Given the description of an element on the screen output the (x, y) to click on. 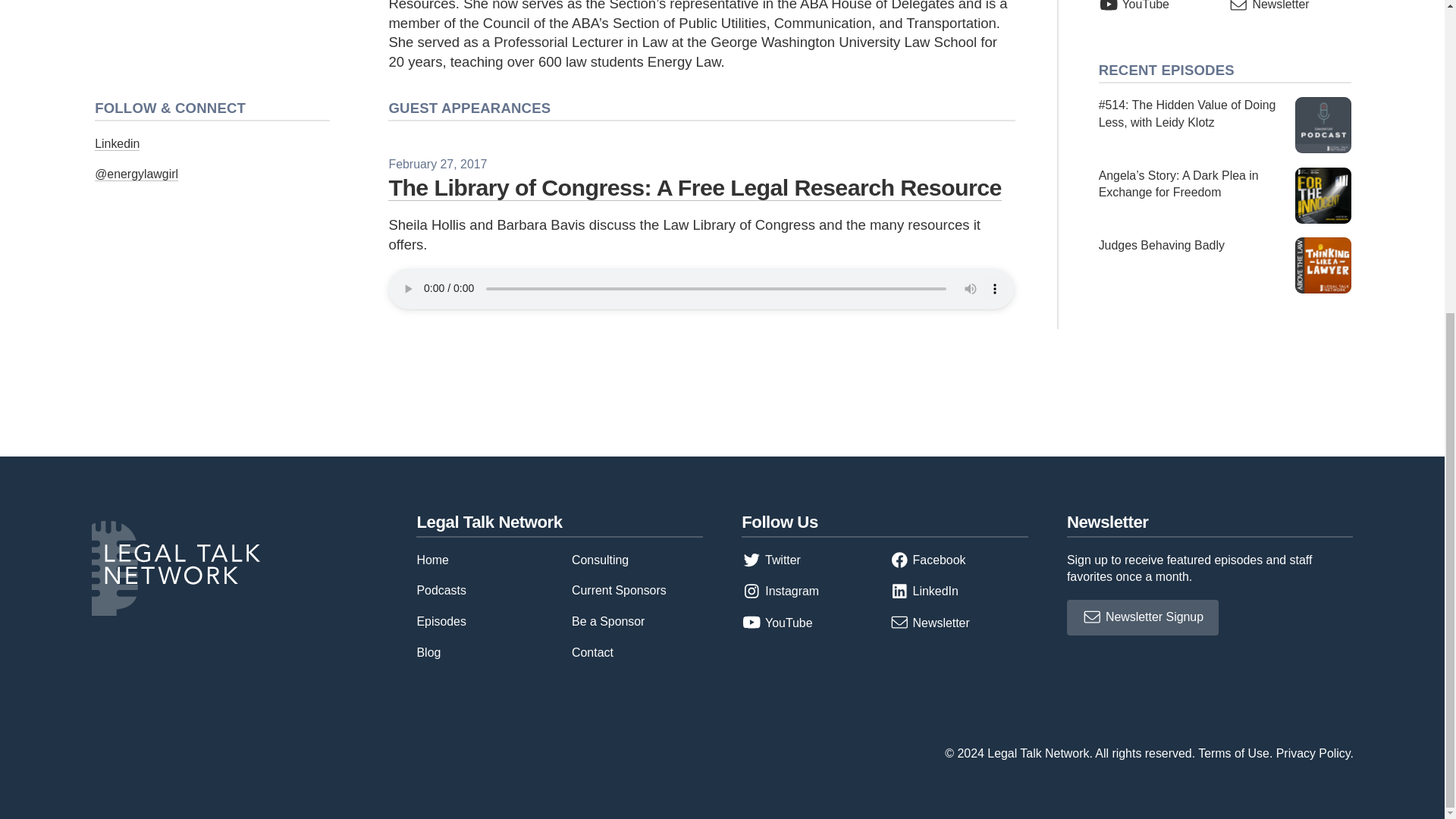
The Library of Congress: A Free Legal Research Resource (694, 187)
Instagram (779, 590)
Podcasts (440, 590)
Blog (428, 652)
Judges Behaving Badly (1225, 265)
Home (432, 559)
Twitter (770, 559)
YouTube (1134, 5)
Current Sponsors (619, 590)
Be a Sponsor (608, 621)
Facebook (927, 559)
Newsletter (1268, 5)
Contact (592, 652)
LinkedIn (923, 590)
YouTube (776, 622)
